Given the description of an element on the screen output the (x, y) to click on. 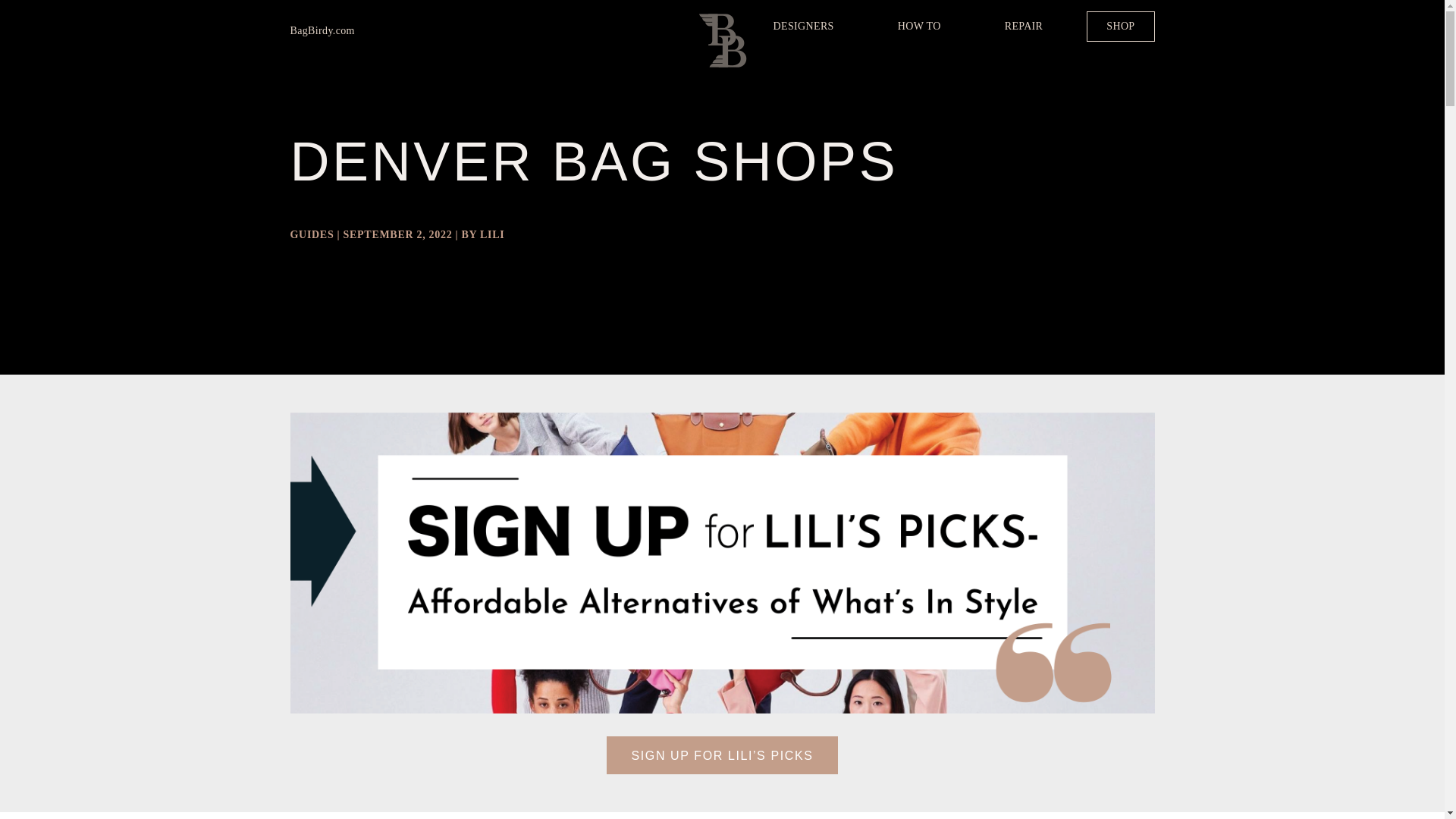
GUIDES (311, 234)
REPAIR (1023, 26)
SHOP (1120, 26)
HOW TO (918, 26)
BagBirdy.com (329, 30)
DESIGNERS (803, 26)
